Given the description of an element on the screen output the (x, y) to click on. 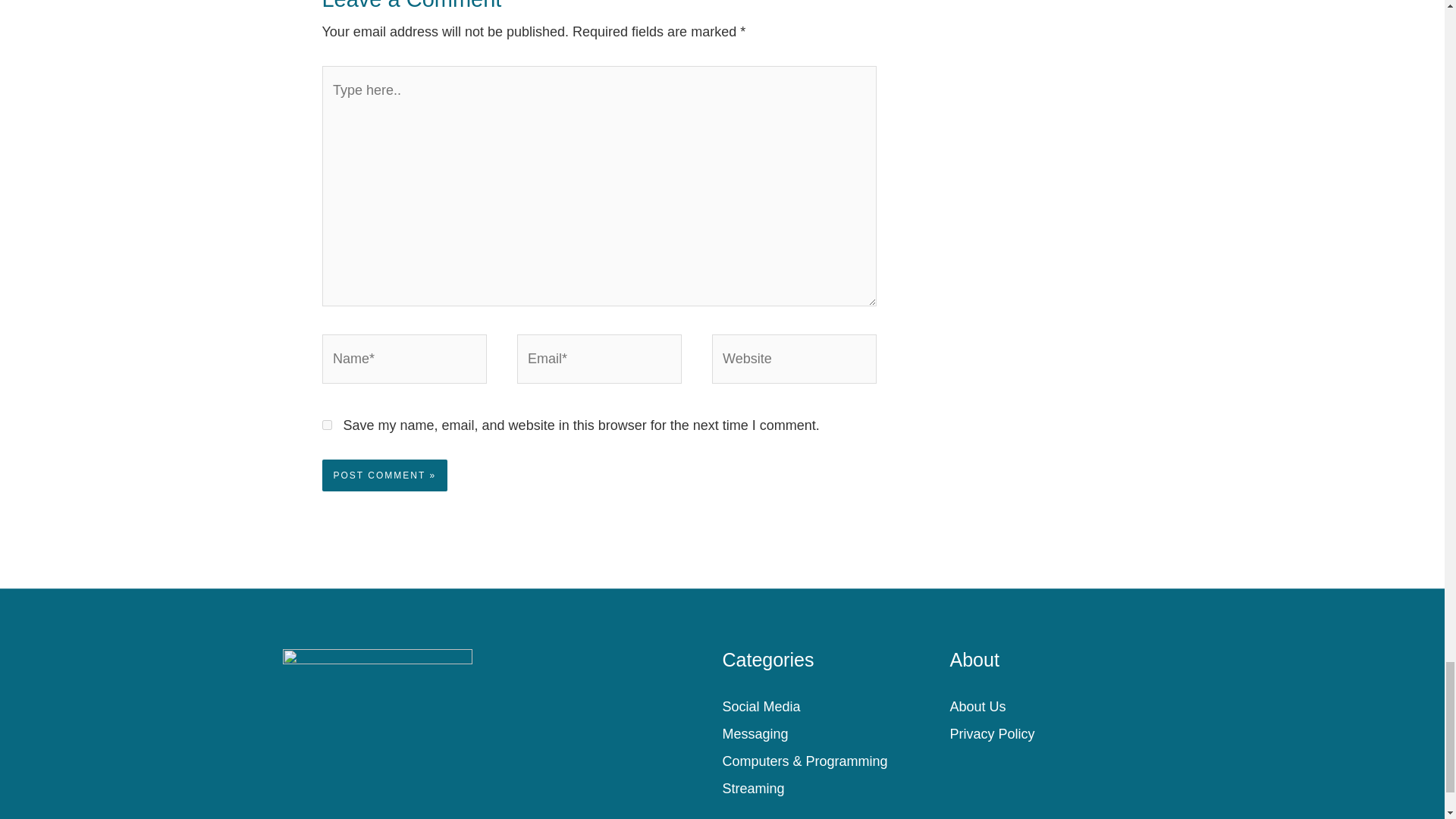
yes (326, 424)
